Given the description of an element on the screen output the (x, y) to click on. 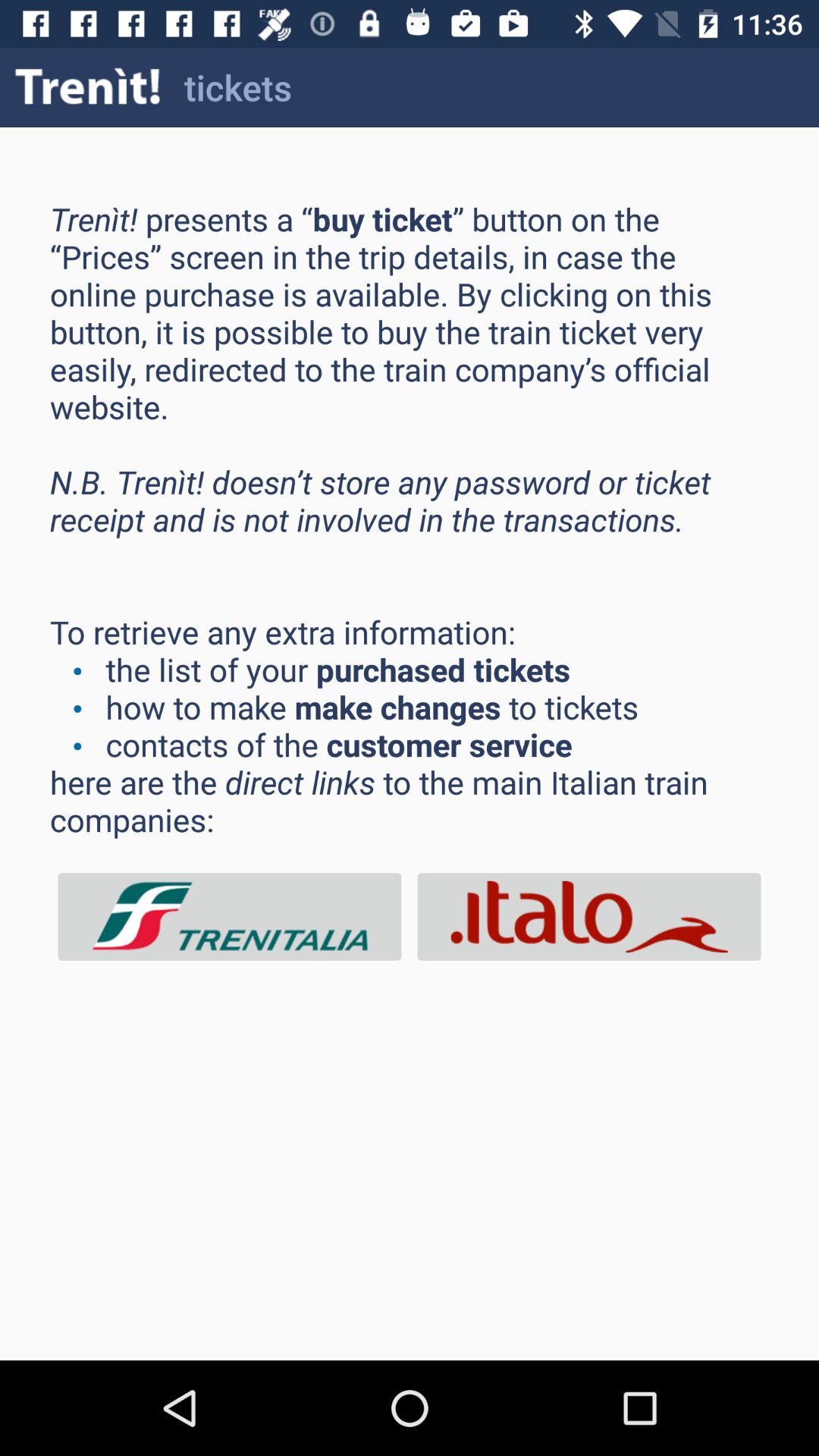
advertisement (588, 916)
